Given the description of an element on the screen output the (x, y) to click on. 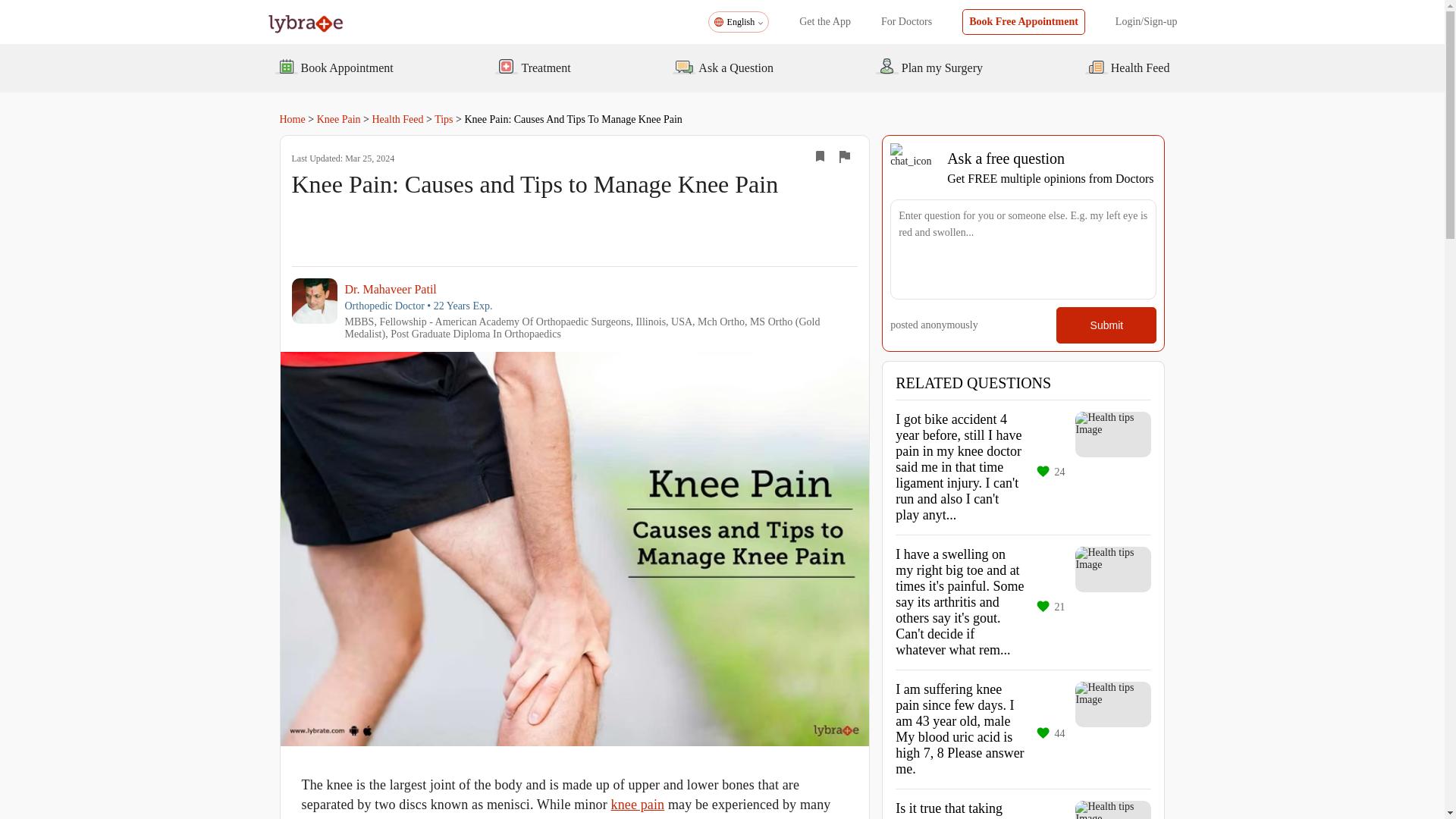
knee pain (638, 804)
Book Free Appointment (1023, 22)
Home (291, 119)
Knee Pain (339, 119)
Ask a Question (722, 67)
Health Feed (1127, 67)
Dr. Mahaveer Patil (600, 288)
Submit (1106, 325)
Plan my Surgery (928, 67)
